Given the description of an element on the screen output the (x, y) to click on. 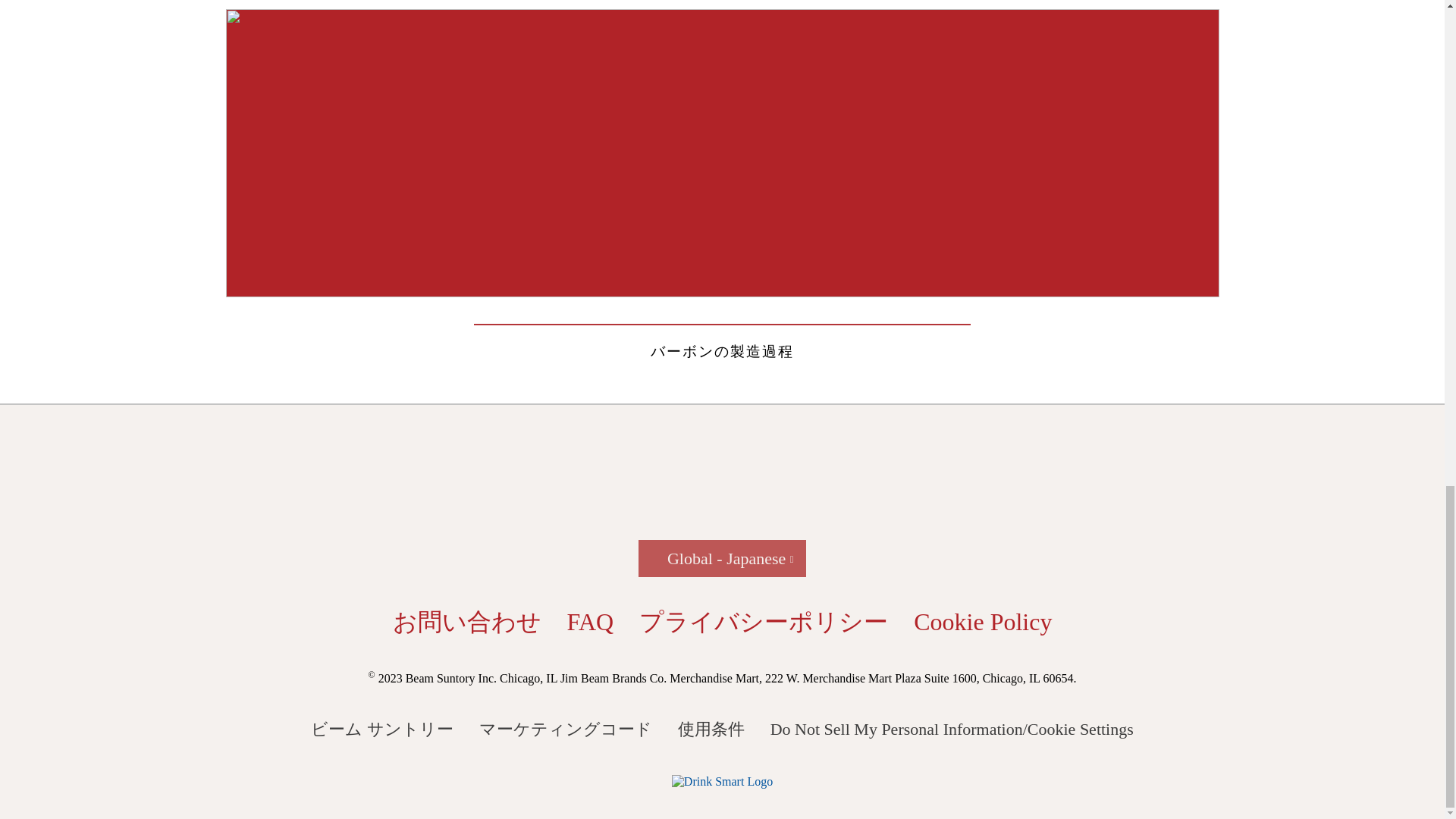
Drink Smart Logo (722, 780)
